Given the description of an element on the screen output the (x, y) to click on. 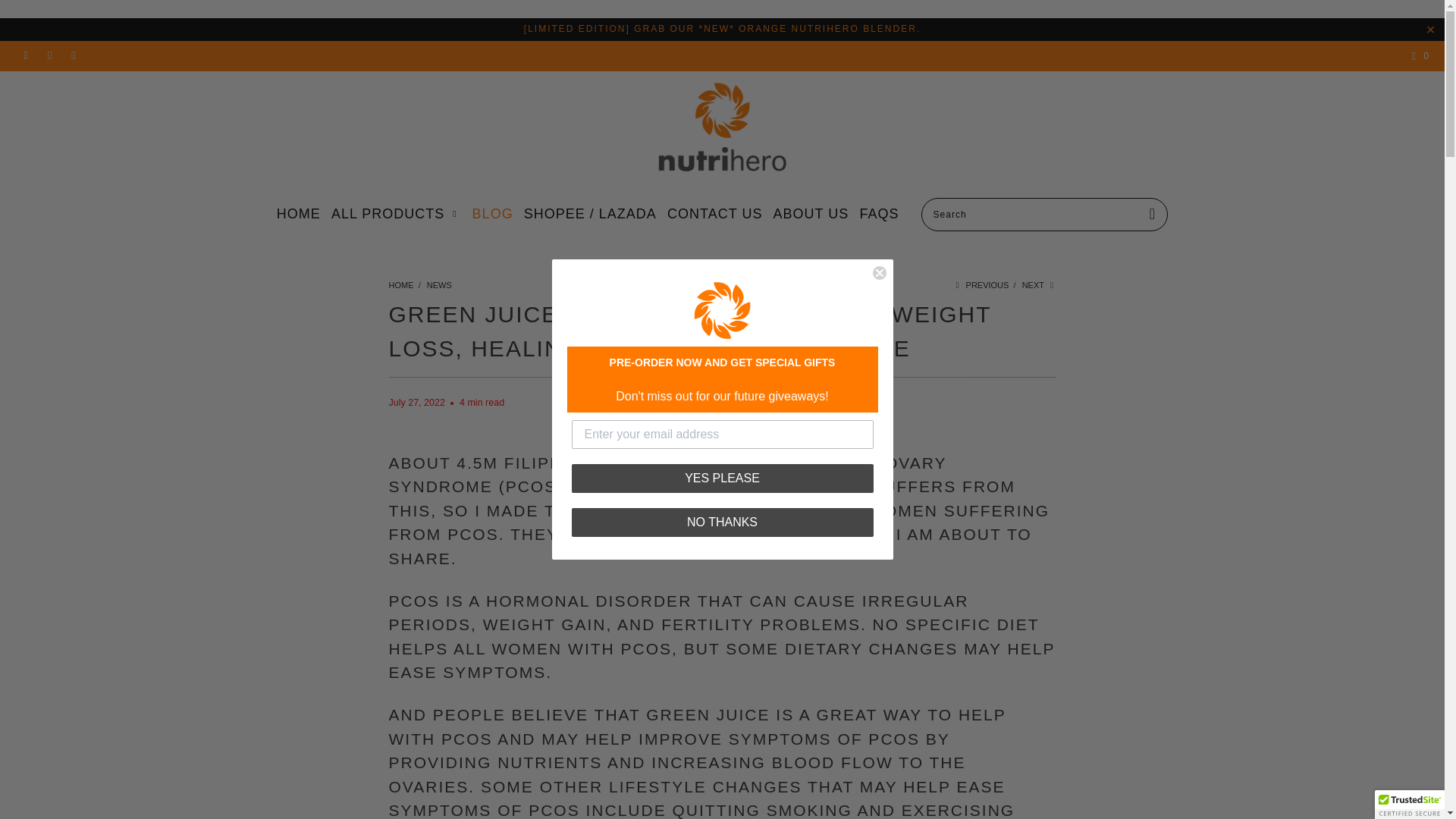
Nutrihero (400, 284)
Nutrihero on Facebook (25, 55)
News (438, 284)
Nutrihero on Instagram (48, 55)
Email Nutrihero (73, 55)
